Given the description of an element on the screen output the (x, y) to click on. 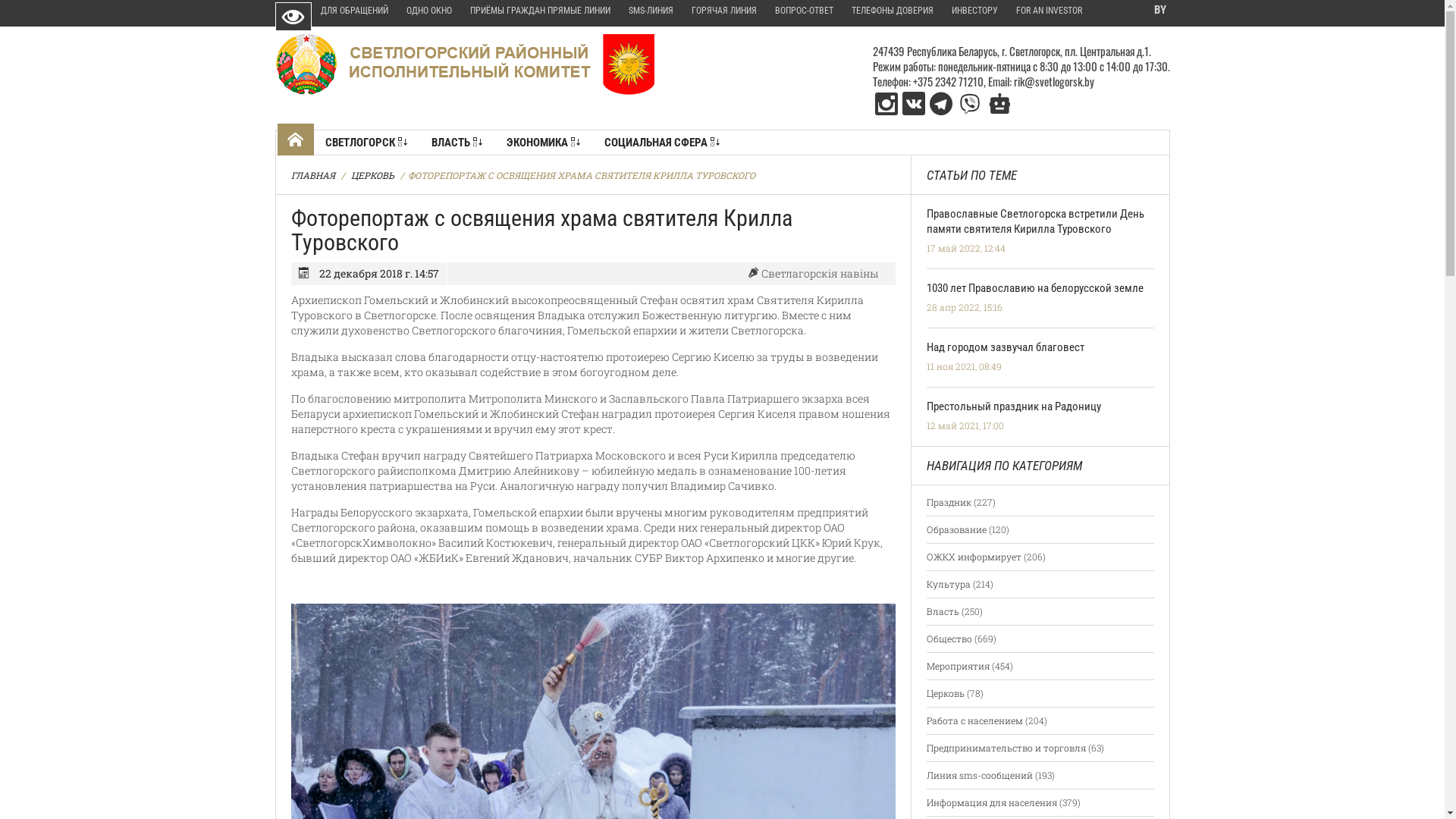
FOR AN INVESTOR Element type: text (1049, 11)
BY Element type: text (1158, 10)
